Given the description of an element on the screen output the (x, y) to click on. 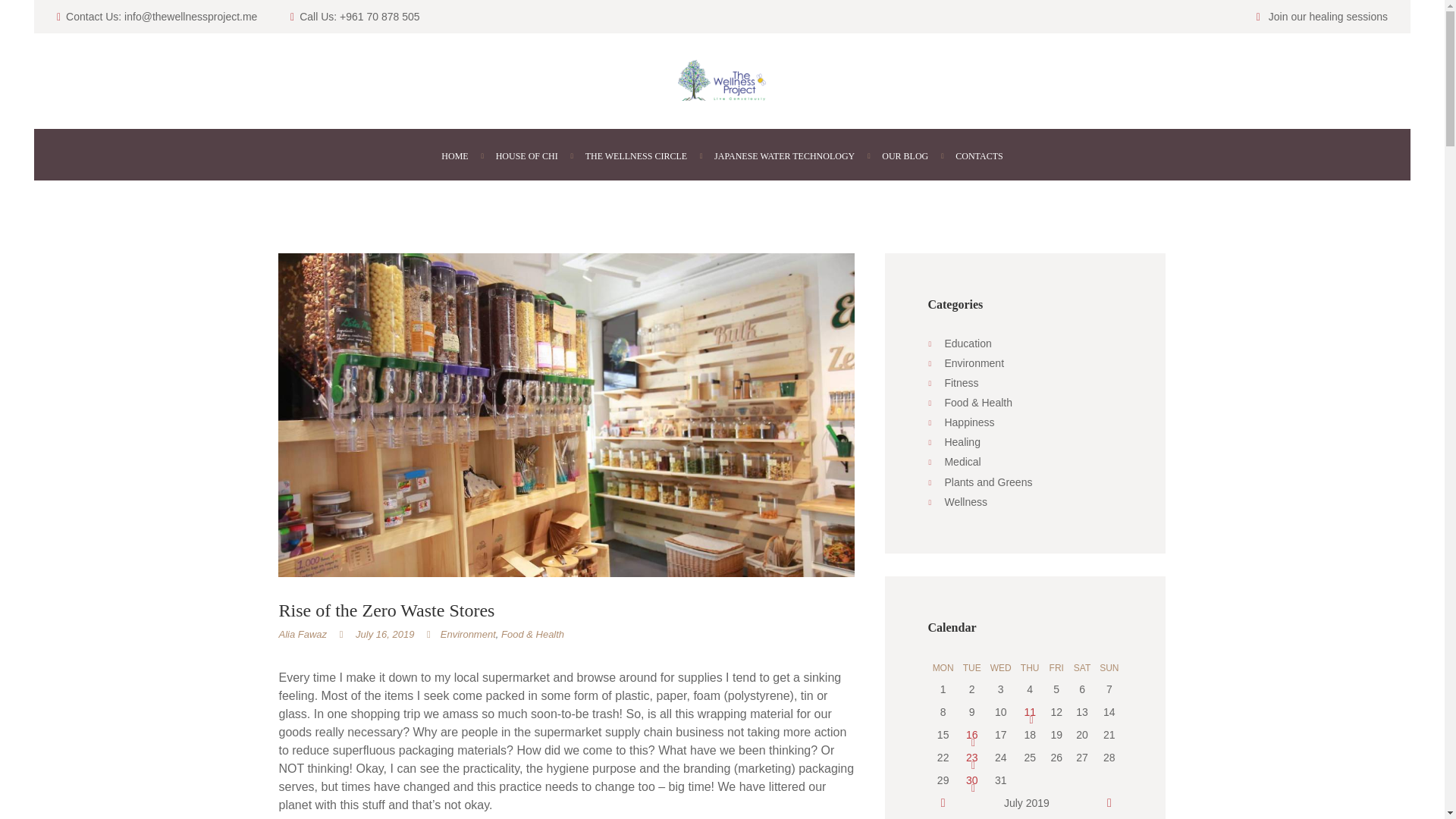
THE WELLNESS CIRCLE (636, 156)
Tuesday (971, 667)
OUR BLOG (904, 156)
View posts for July 2019 (1026, 802)
Friday (1055, 667)
Alia Fawaz (302, 633)
Rise of the Zero Waste Stores (972, 734)
HOUSE OF CHI (526, 156)
July 16, 2019 (384, 633)
Join our healing sessions (1327, 16)
